Given the description of an element on the screen output the (x, y) to click on. 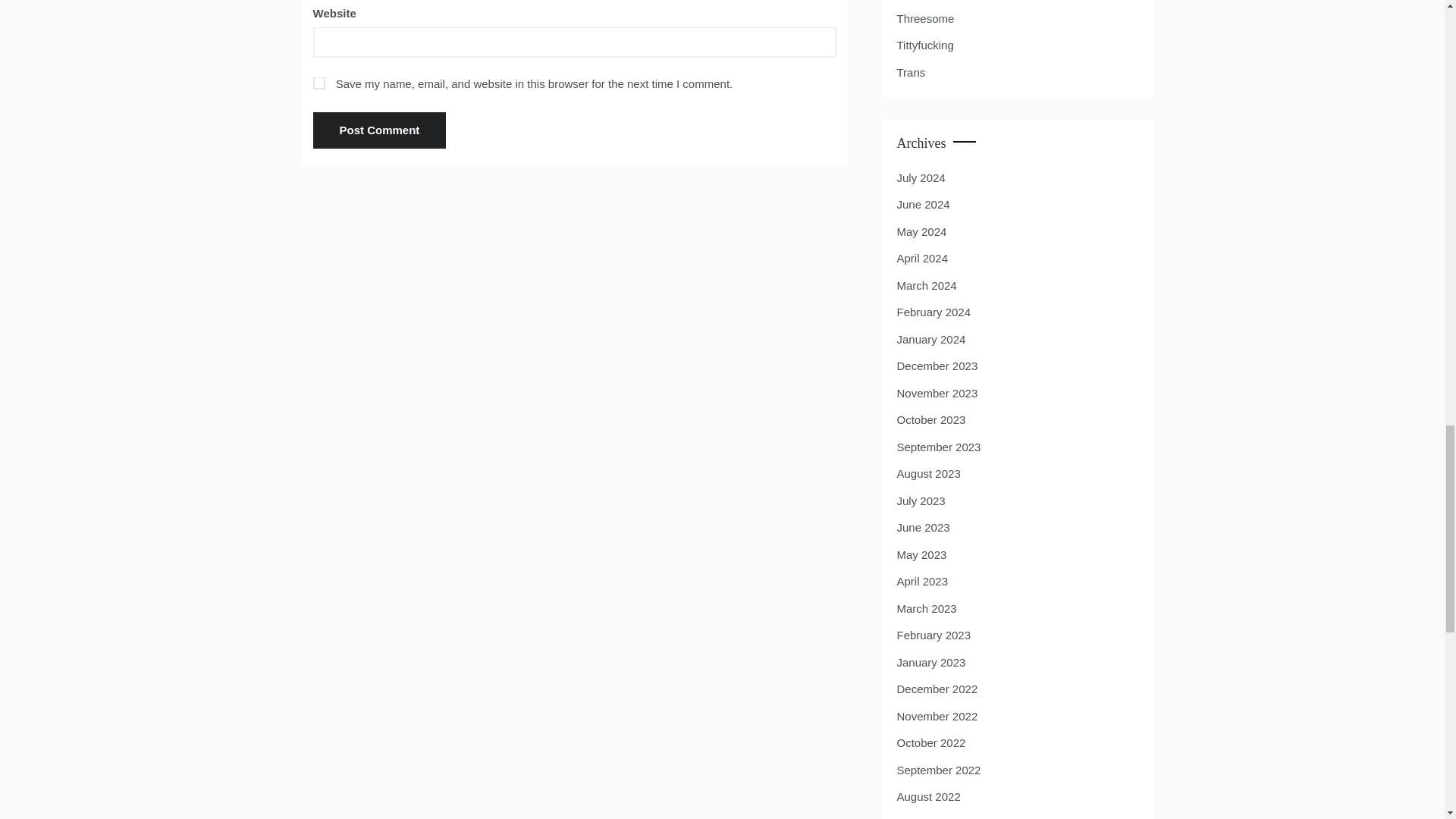
Post Comment (379, 130)
Score (911, 0)
Post Comment (379, 130)
yes (318, 82)
